Given the description of an element on the screen output the (x, y) to click on. 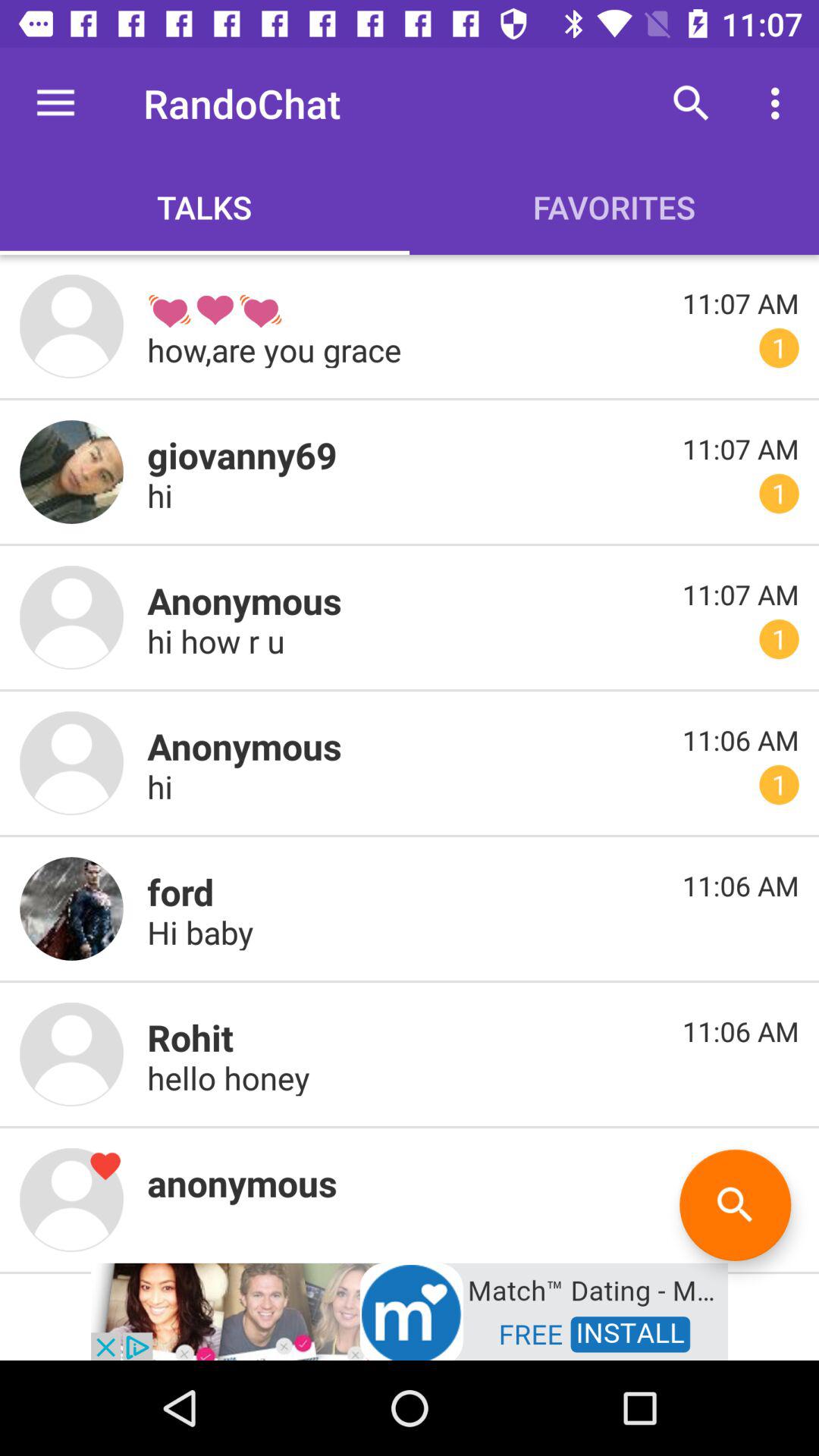
go to search (735, 1204)
